Given the description of an element on the screen output the (x, y) to click on. 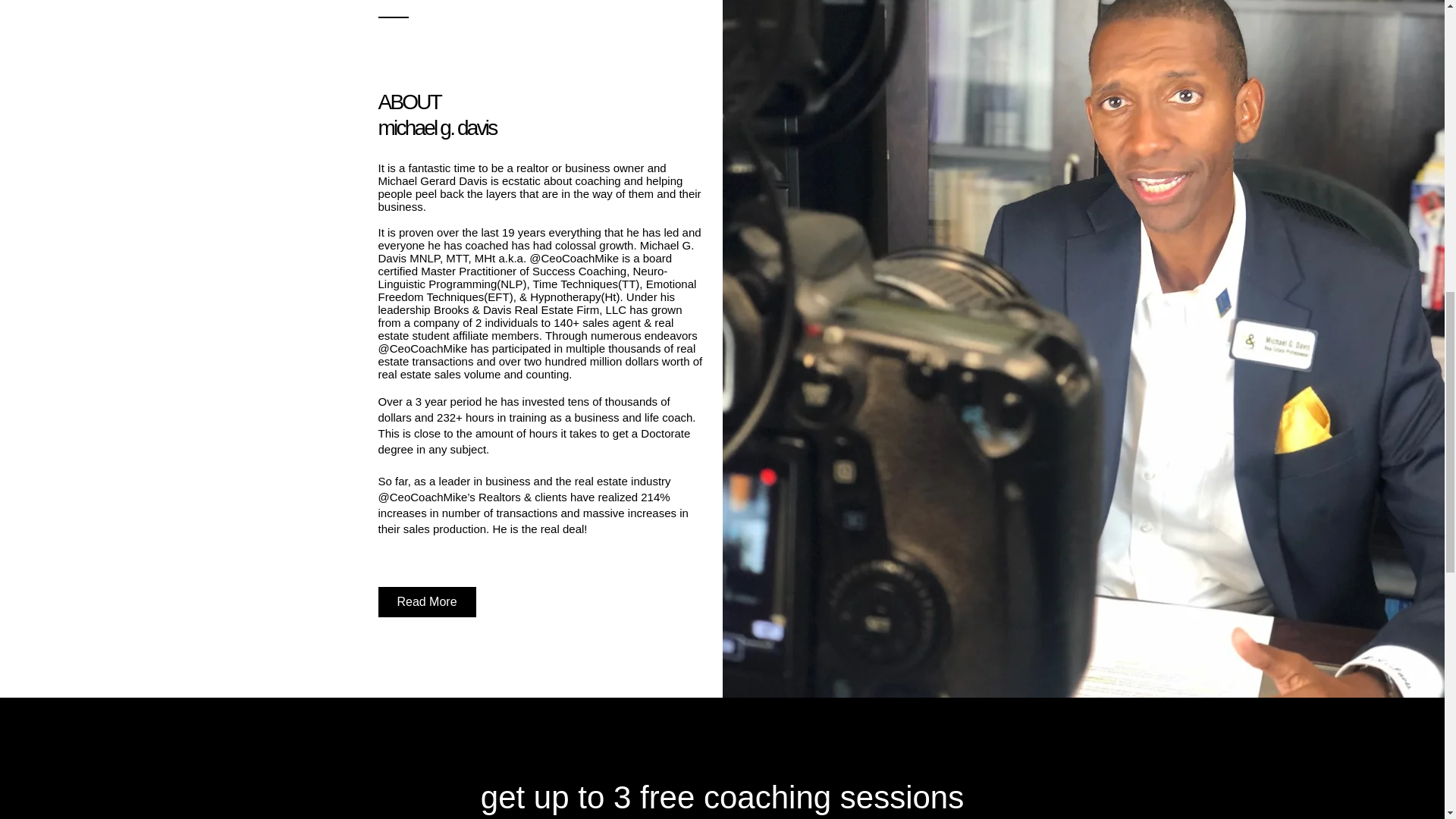
Read More (426, 602)
